Given the description of an element on the screen output the (x, y) to click on. 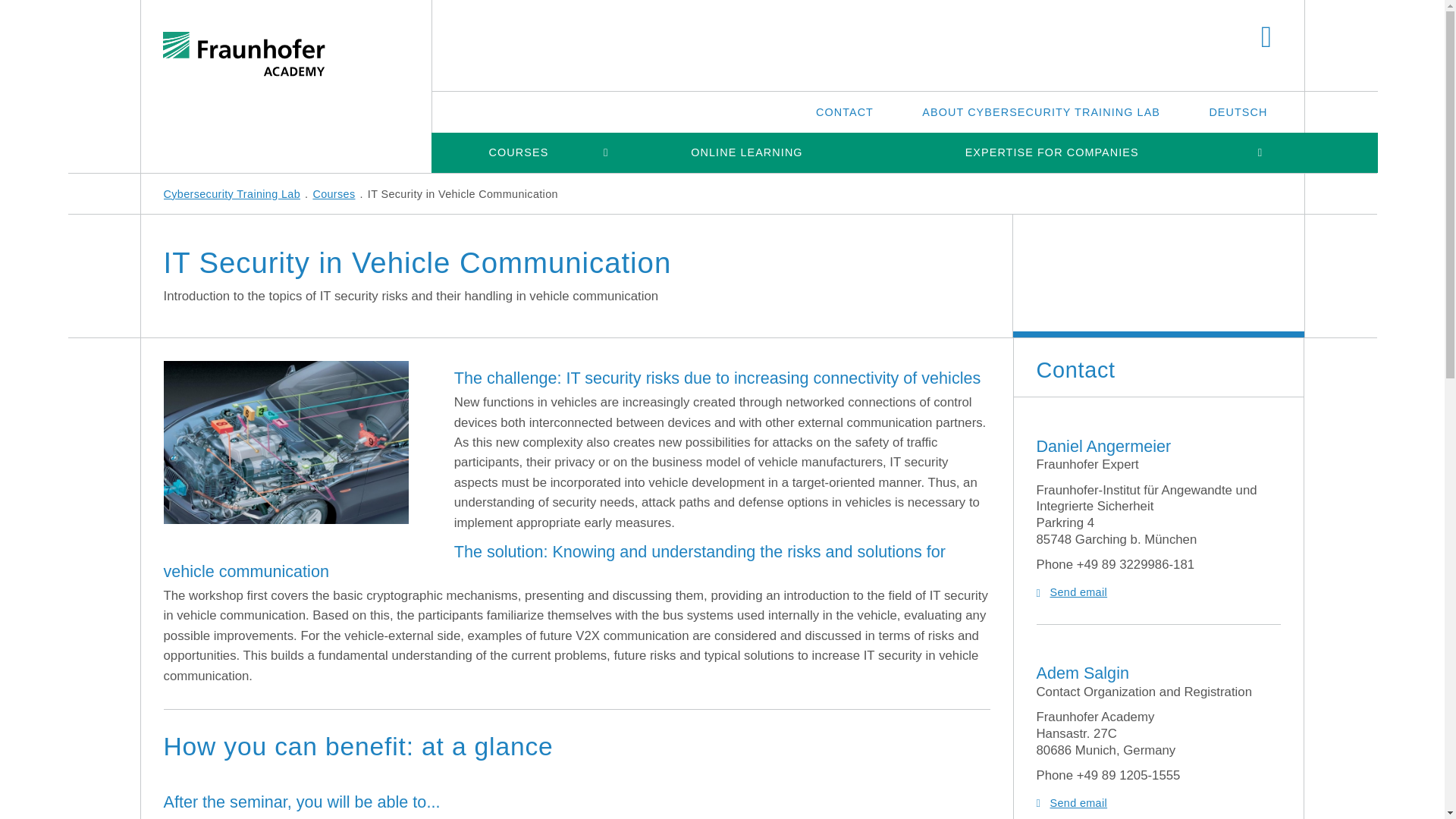
ONLINE LEARNING (746, 151)
Cybersecurity Training Lab (232, 193)
EXPERTISE FOR COMPANIES (1051, 151)
ABOUT CYBERSECURITY TRAINING LAB (1040, 111)
SEARCH (1266, 37)
Courses (334, 193)
DEUTSCH (1238, 111)
CONTACT (844, 111)
COURSES (518, 151)
